Given the description of an element on the screen output the (x, y) to click on. 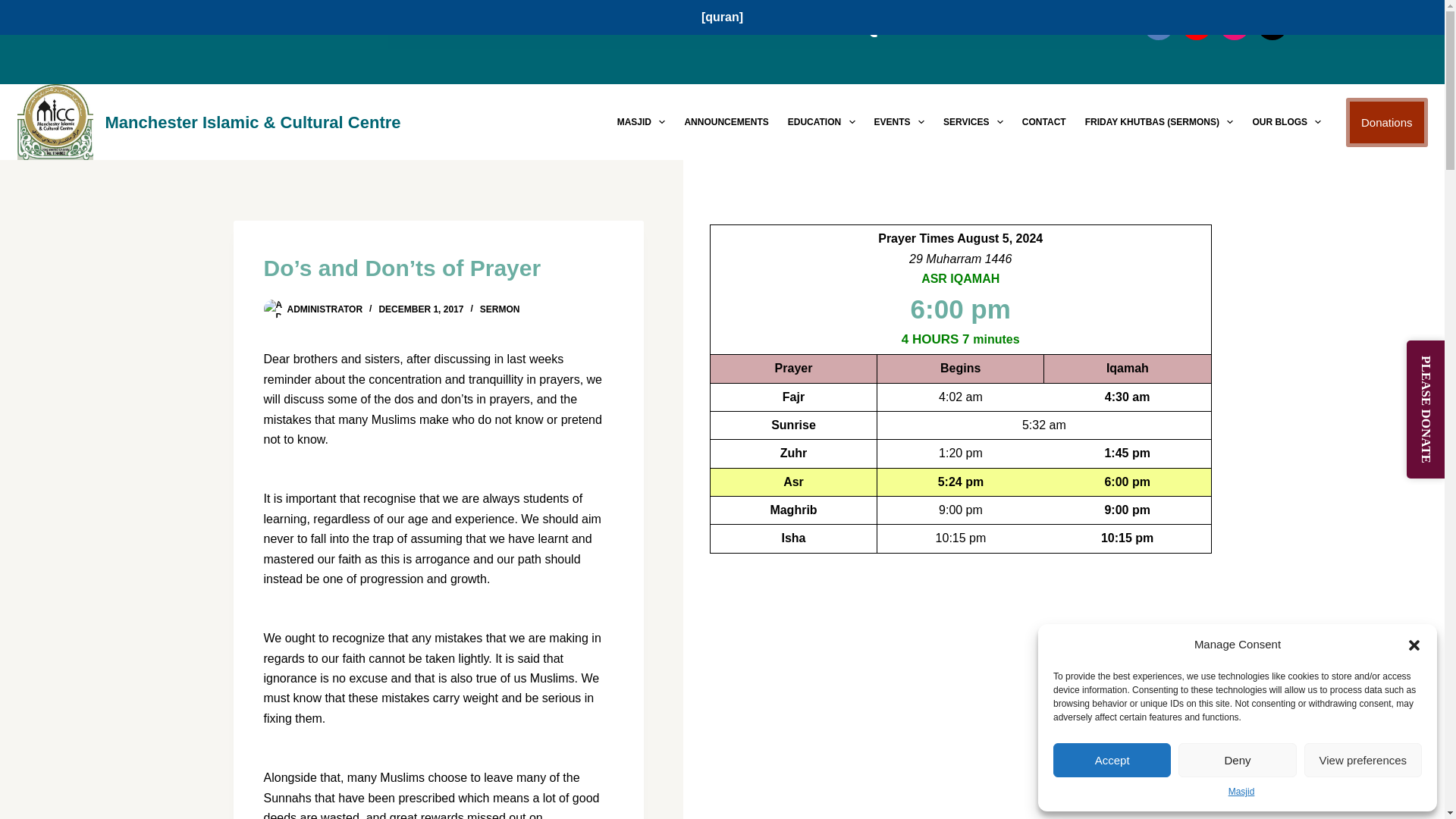
Deny (1236, 759)
Skip to content (15, 7)
Masjid (1241, 792)
View preferences (1363, 759)
Accept (1111, 759)
Posts by Administrator (324, 308)
